Given the description of an element on the screen output the (x, y) to click on. 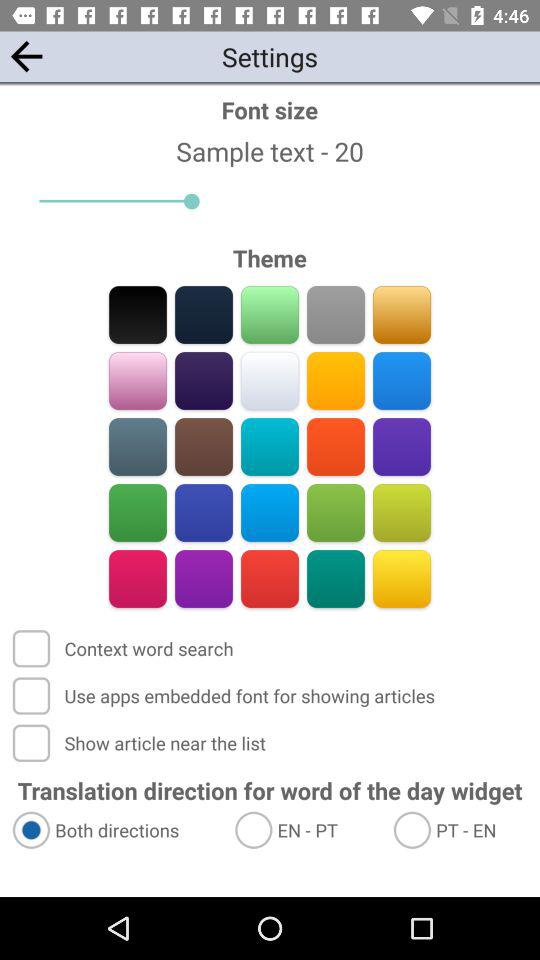
press the context word search (124, 648)
